Given the description of an element on the screen output the (x, y) to click on. 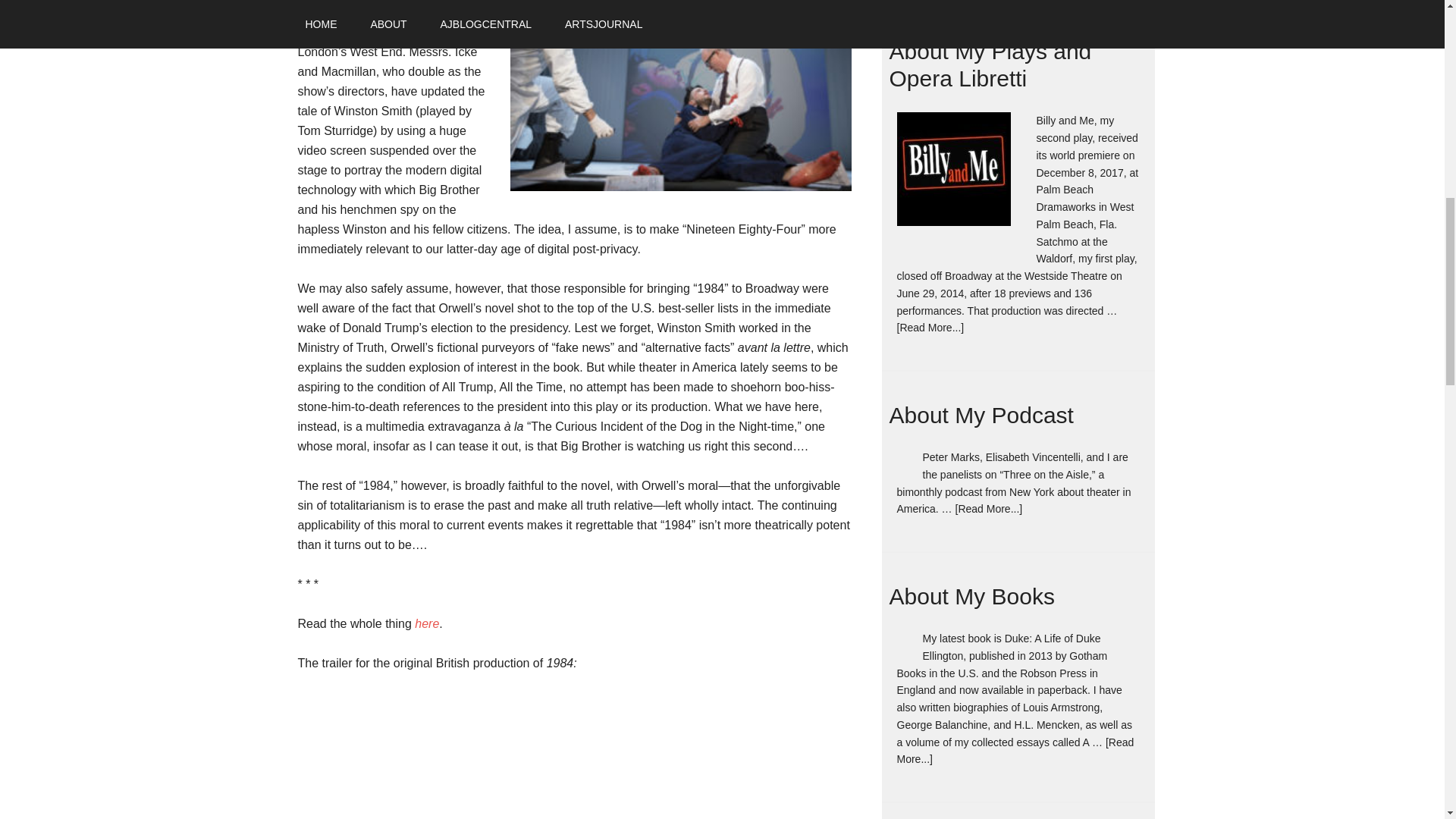
About My Plays and Opera Libretti (961, 180)
About My Books (971, 596)
here (426, 623)
About My Podcast (980, 414)
About My Plays and Opera Libretti (989, 64)
About My Books (971, 596)
About My Podcast (980, 414)
About My Plays and Opera Libretti (989, 64)
